Given the description of an element on the screen output the (x, y) to click on. 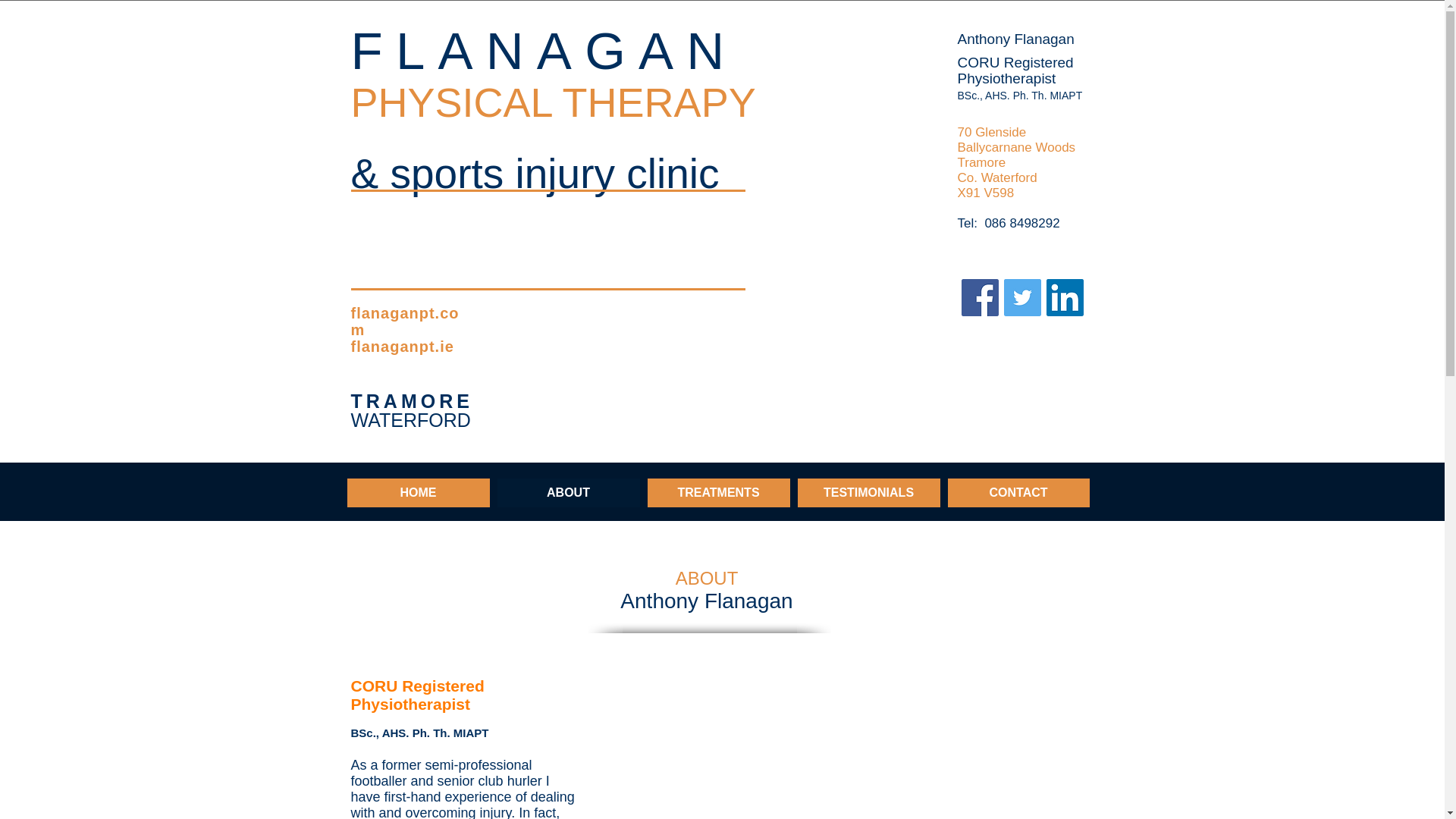
ABOUT (568, 492)
TESTIMONIALS (868, 492)
FLANAGAN (543, 51)
HOME (418, 492)
CONTACT (1018, 492)
TREATMENTS (718, 492)
PHYSICAL THERAPY (552, 102)
